Given the description of an element on the screen output the (x, y) to click on. 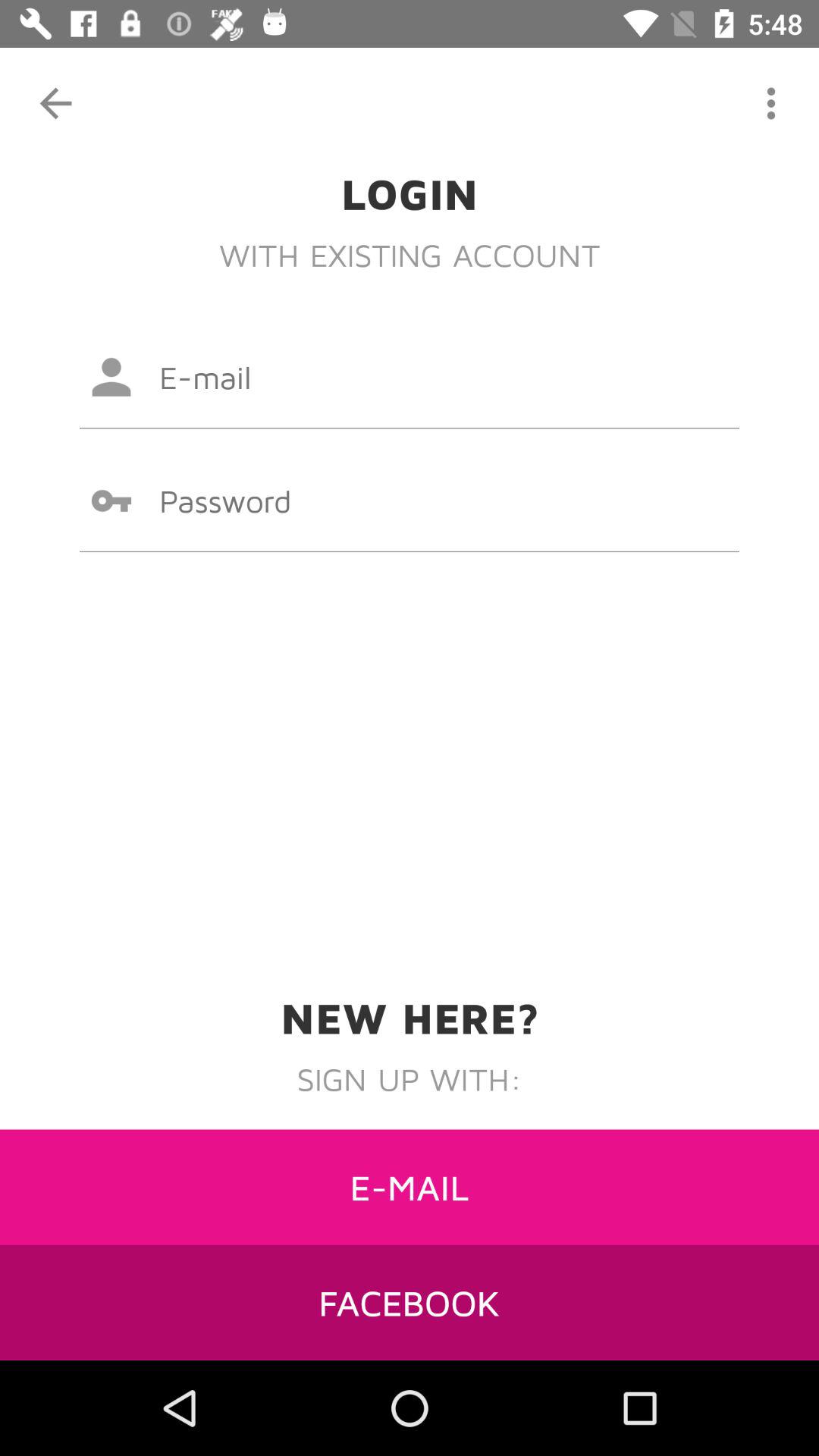
click password (409, 500)
